Given the description of an element on the screen output the (x, y) to click on. 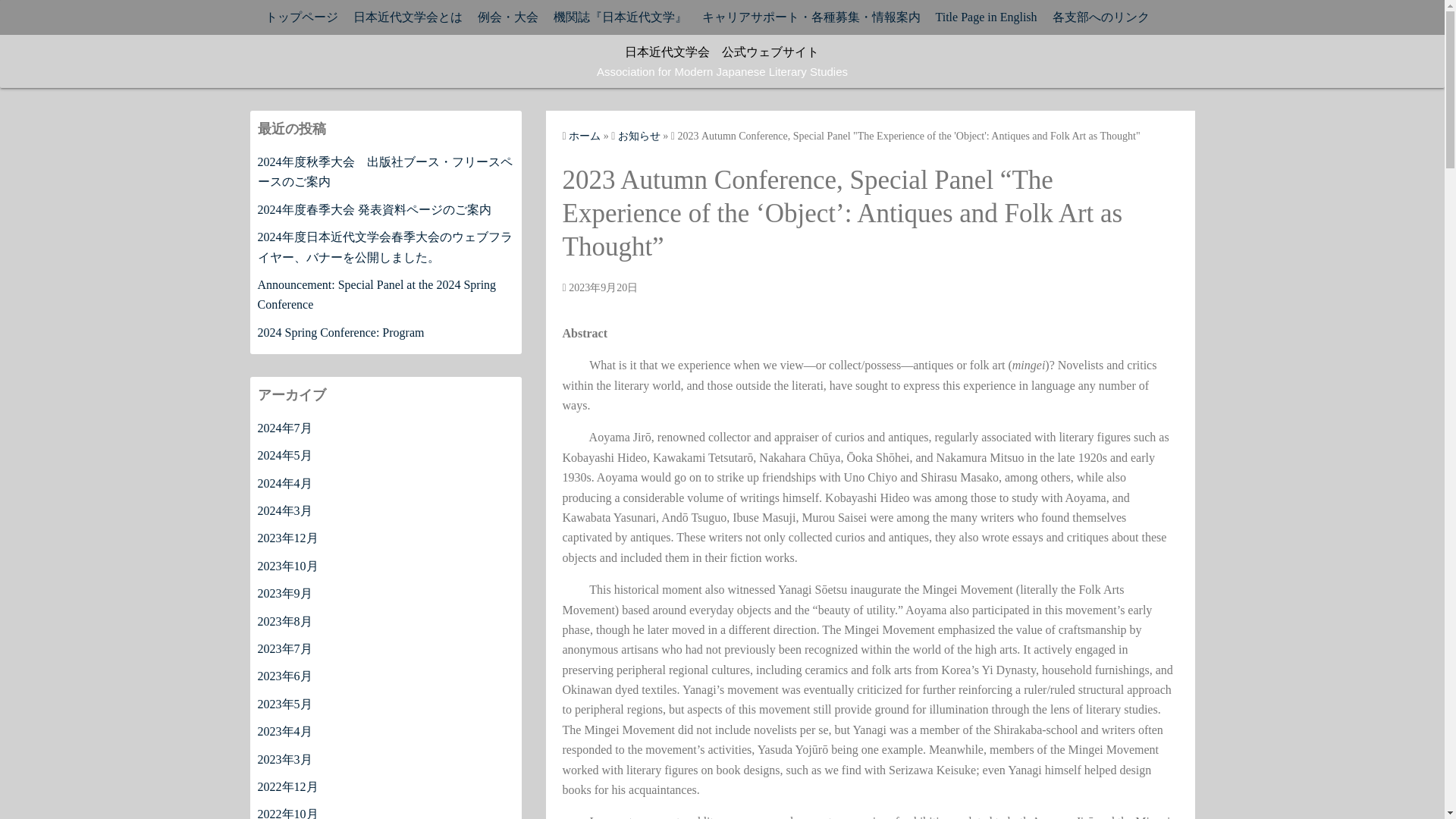
Announcement: Special Panel at the 2024 Spring Conference (376, 294)
2024 Spring Conference: Program (341, 332)
Title Page in English (986, 17)
Association for Modern Japanese Literary Studies (721, 71)
